Given the description of an element on the screen output the (x, y) to click on. 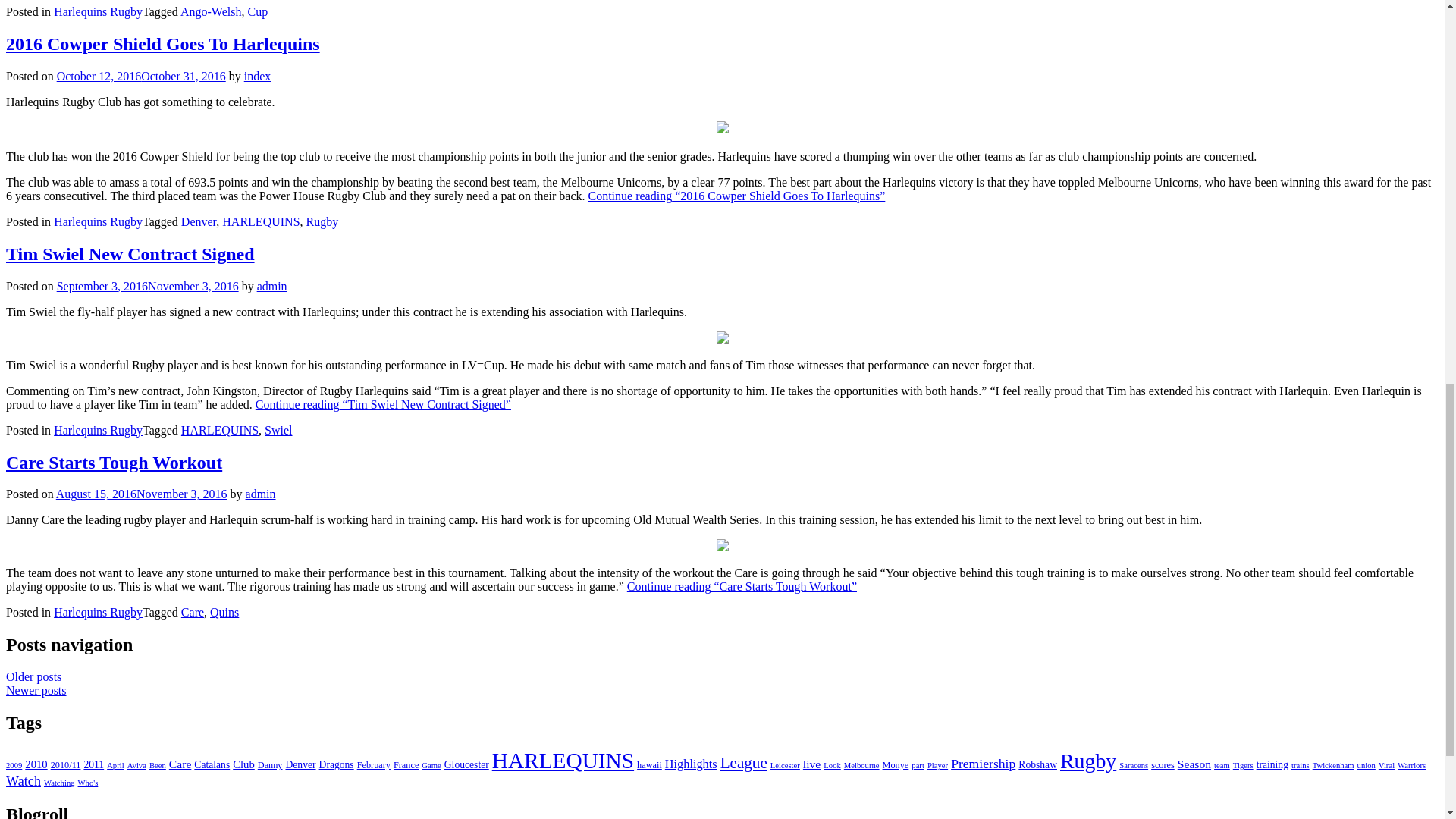
2016 Cowper Shield Goes To Harlequins (162, 44)
September 3, 2016November 3, 2016 (147, 286)
Harlequins Rugby (97, 11)
HARLEQUINS (219, 430)
Tim Swiel New Contract Signed (129, 253)
index (257, 75)
Cup (257, 11)
admin (271, 286)
Swiel (278, 430)
Harlequins Rugby (97, 430)
HARLEQUINS (260, 221)
October 12, 2016October 31, 2016 (140, 75)
Denver (197, 221)
Ango-Welsh (210, 11)
Rugby (322, 221)
